Given the description of an element on the screen output the (x, y) to click on. 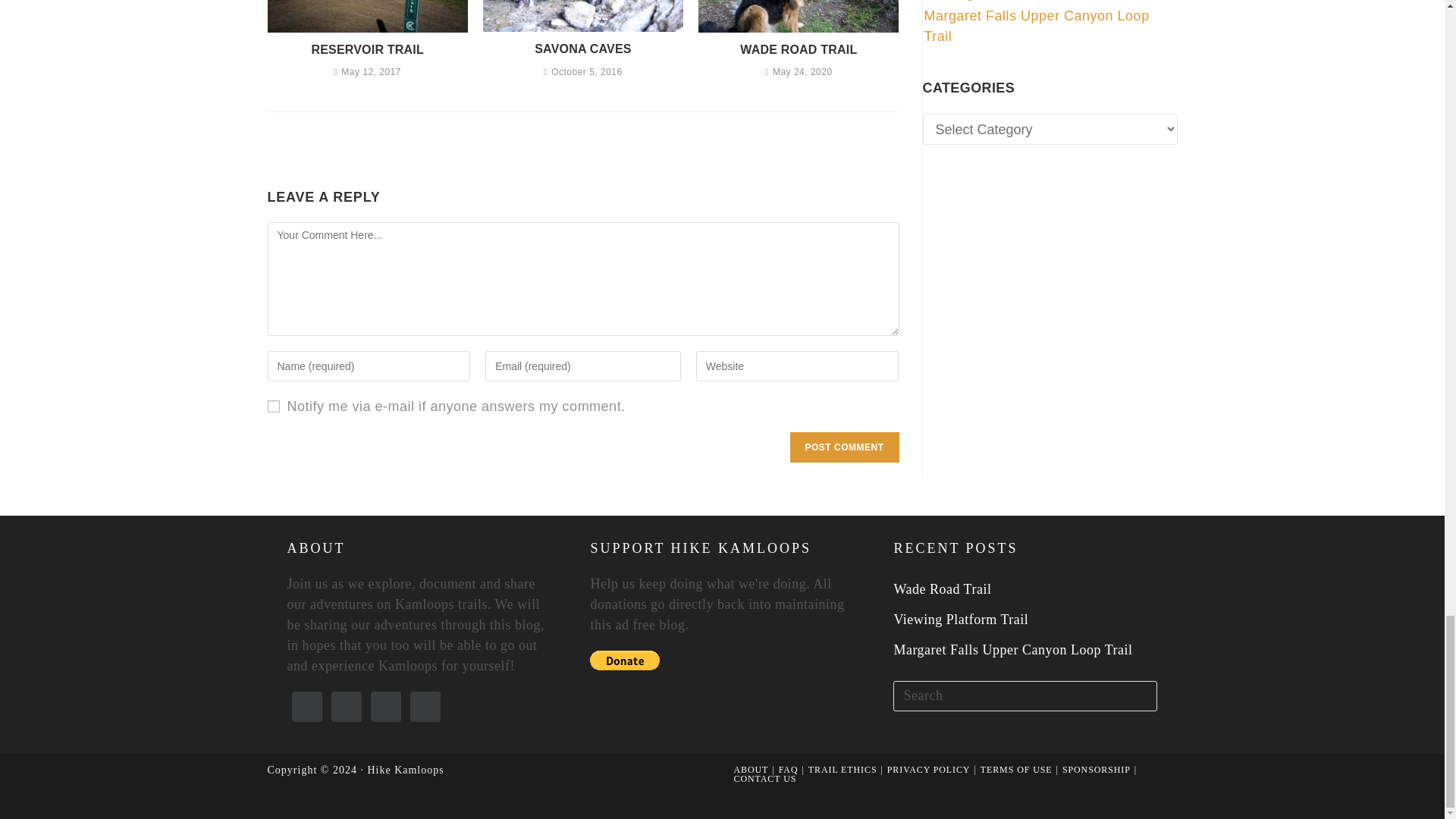
on (272, 406)
Post Comment (844, 447)
